Given the description of an element on the screen output the (x, y) to click on. 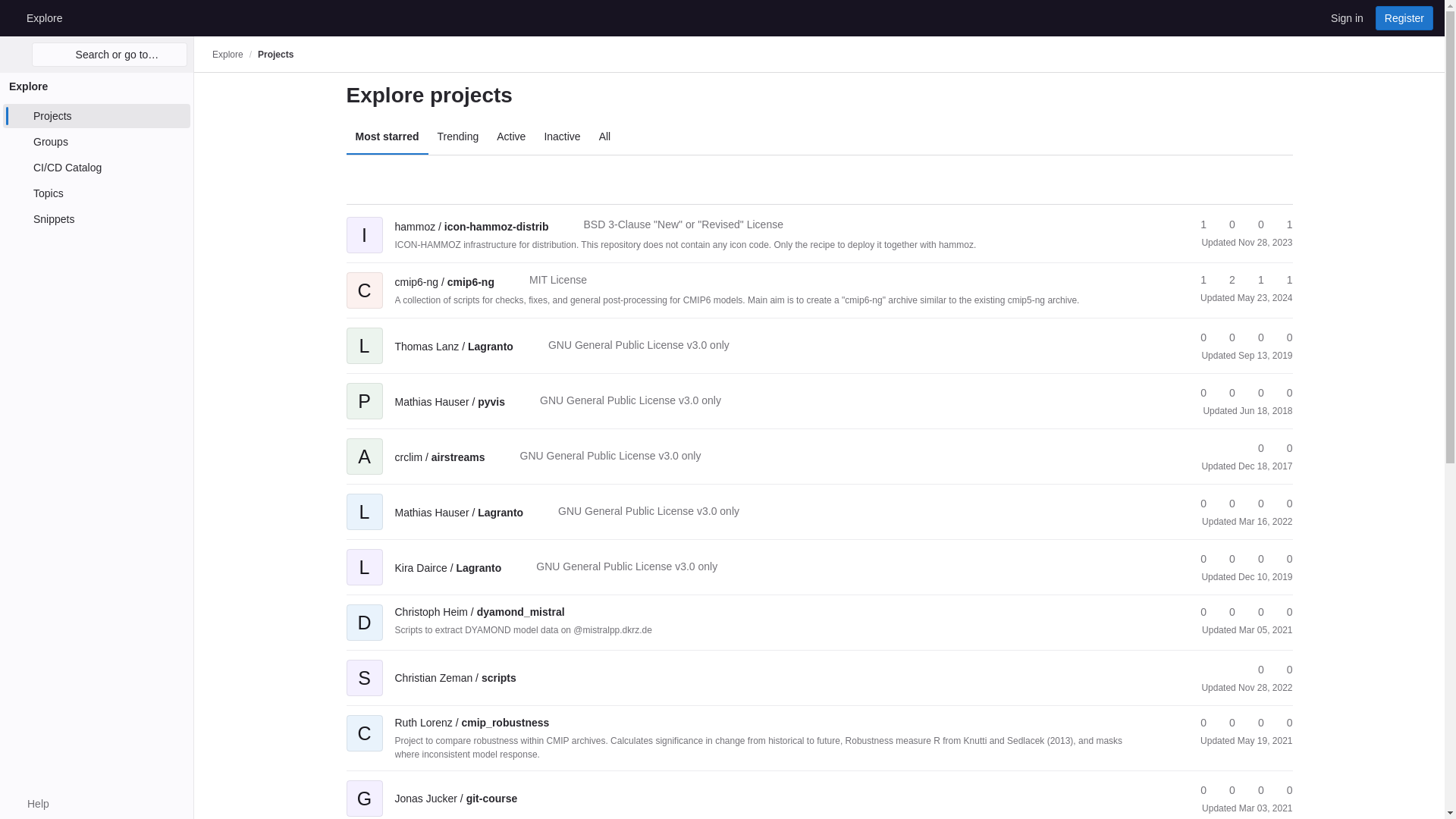
C (363, 279)
0 (1253, 224)
Groups (96, 141)
Most starred (387, 135)
Trending (457, 135)
Register (1403, 17)
Projects (96, 115)
Projects (275, 54)
Topics (96, 192)
0 (1224, 224)
Help (30, 803)
Merge requests (1253, 224)
Merge requests (1253, 279)
Sign in (1347, 17)
Forks (1224, 279)
